Given the description of an element on the screen output the (x, y) to click on. 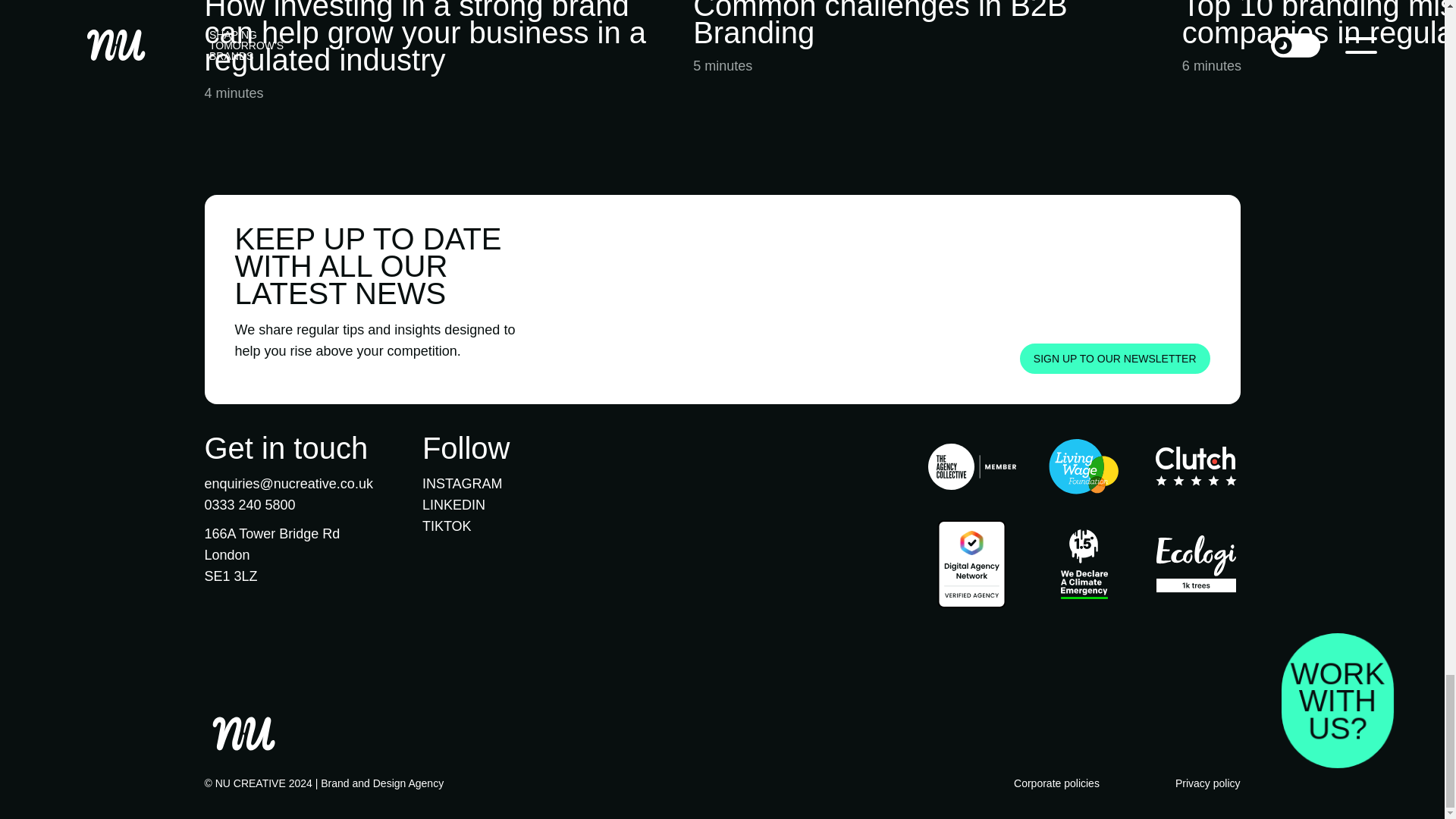
Corporate policies (1056, 783)
INSTAGRAM (462, 483)
LINKEDIN (453, 504)
0333 240 5800 (250, 504)
View our Ecologi profile (1196, 567)
Privacy policy (1207, 783)
TIKTOK (446, 525)
